Given the description of an element on the screen output the (x, y) to click on. 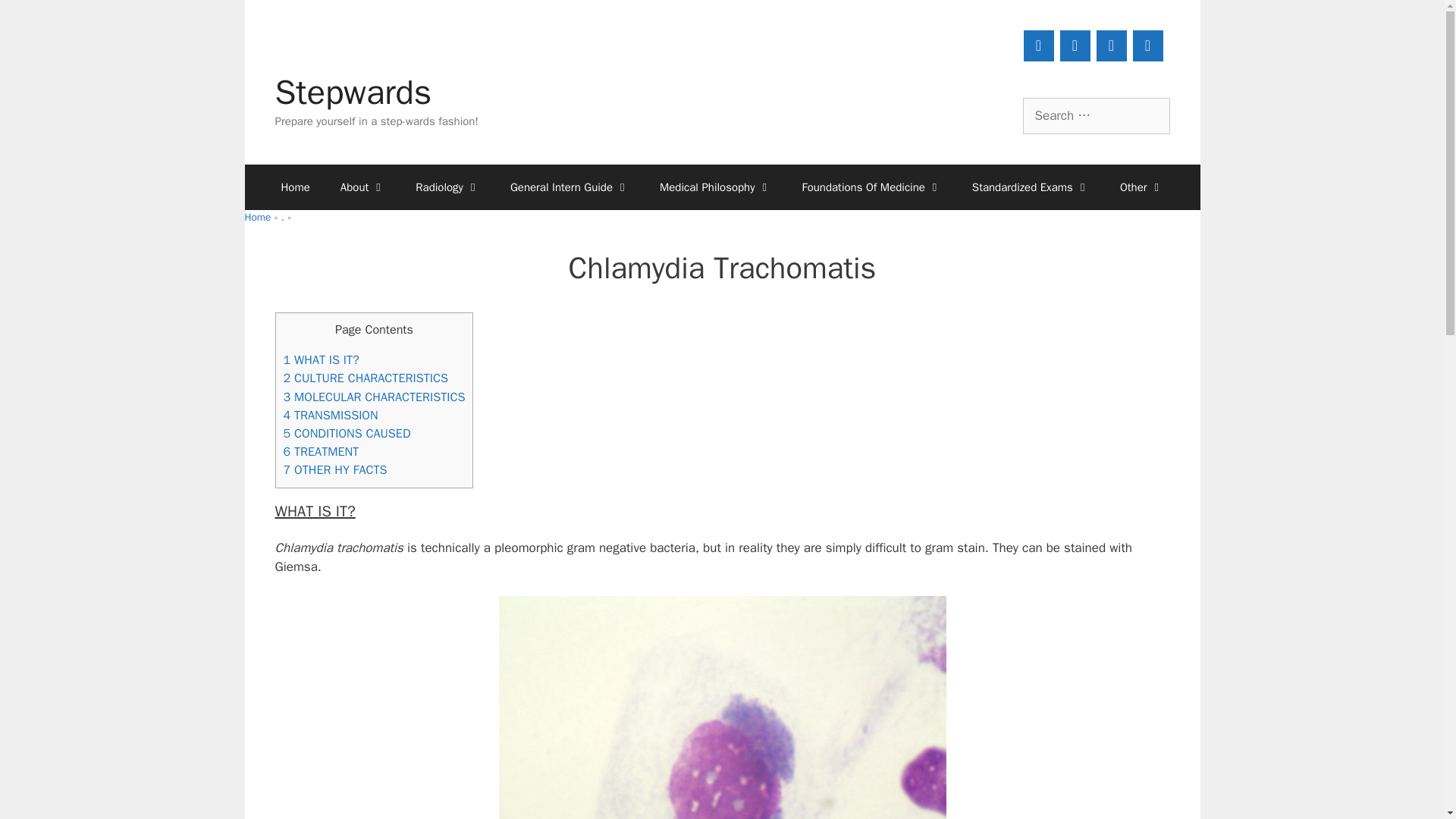
Radiology (447, 186)
Search (35, 18)
Twitter (1147, 45)
YouTube (1038, 45)
Stepwards (352, 92)
About (362, 186)
Search for: (1095, 115)
Instagram (1111, 45)
Home (294, 186)
Facebook (1074, 45)
